Given the description of an element on the screen output the (x, y) to click on. 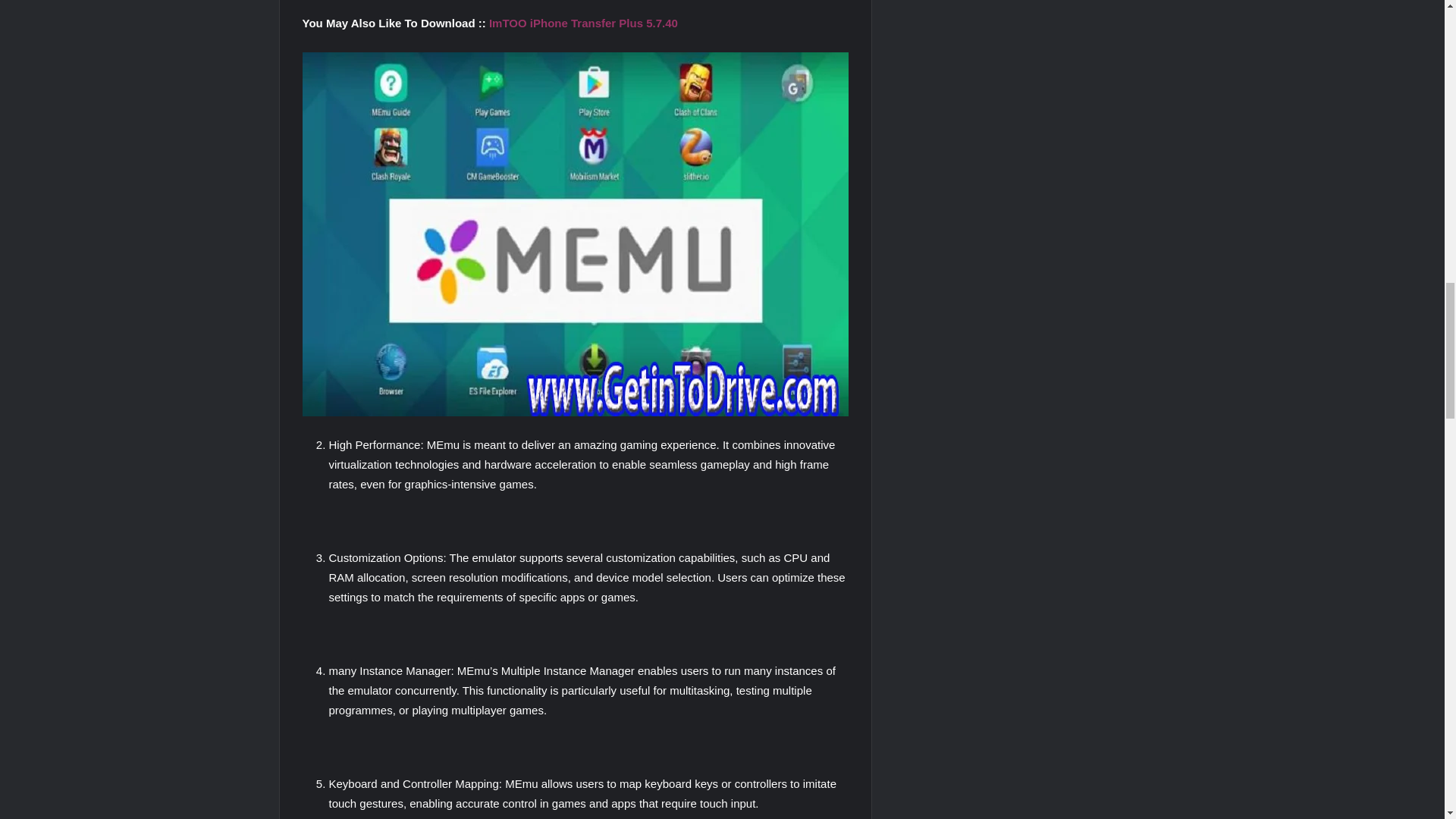
ImTOO iPhone Transfer Plus 5.7.40 (583, 22)
